Given the description of an element on the screen output the (x, y) to click on. 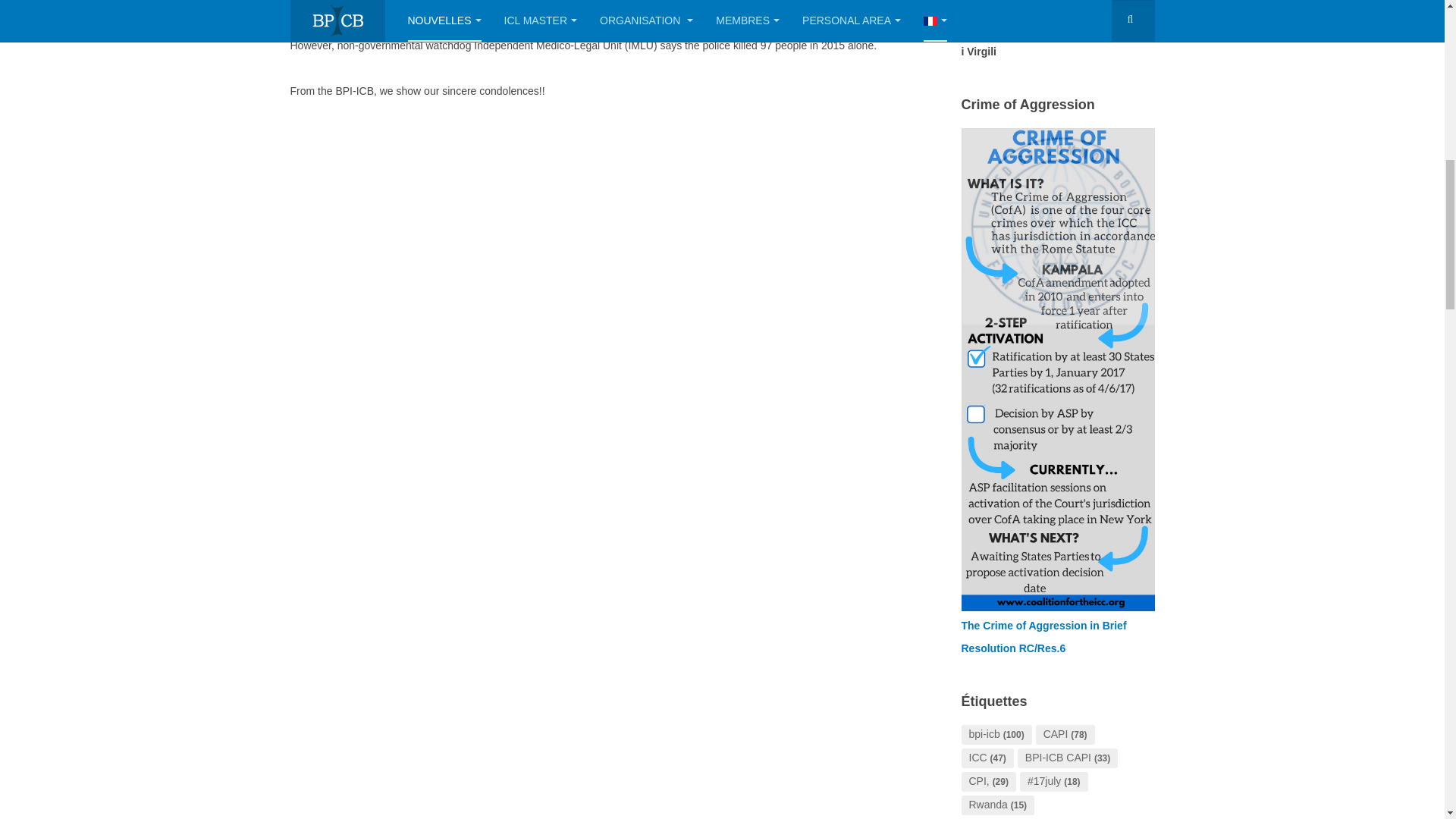
The Crime of Aggression in Brief (1043, 625)
Crime of Aggression (1057, 368)
